Given the description of an element on the screen output the (x, y) to click on. 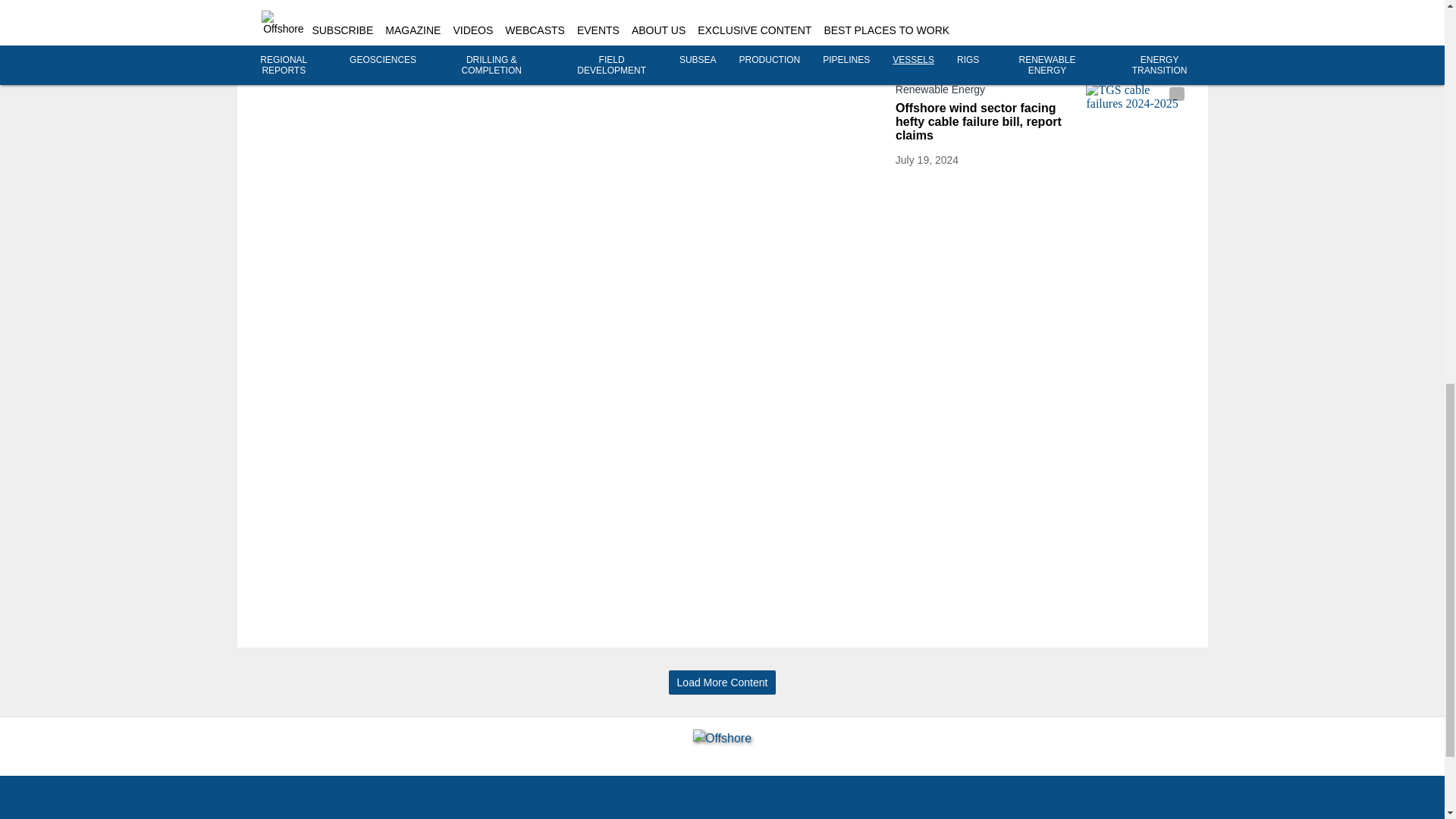
TGS cable failures 2024-2025 (1137, 111)
